Given the description of an element on the screen output the (x, y) to click on. 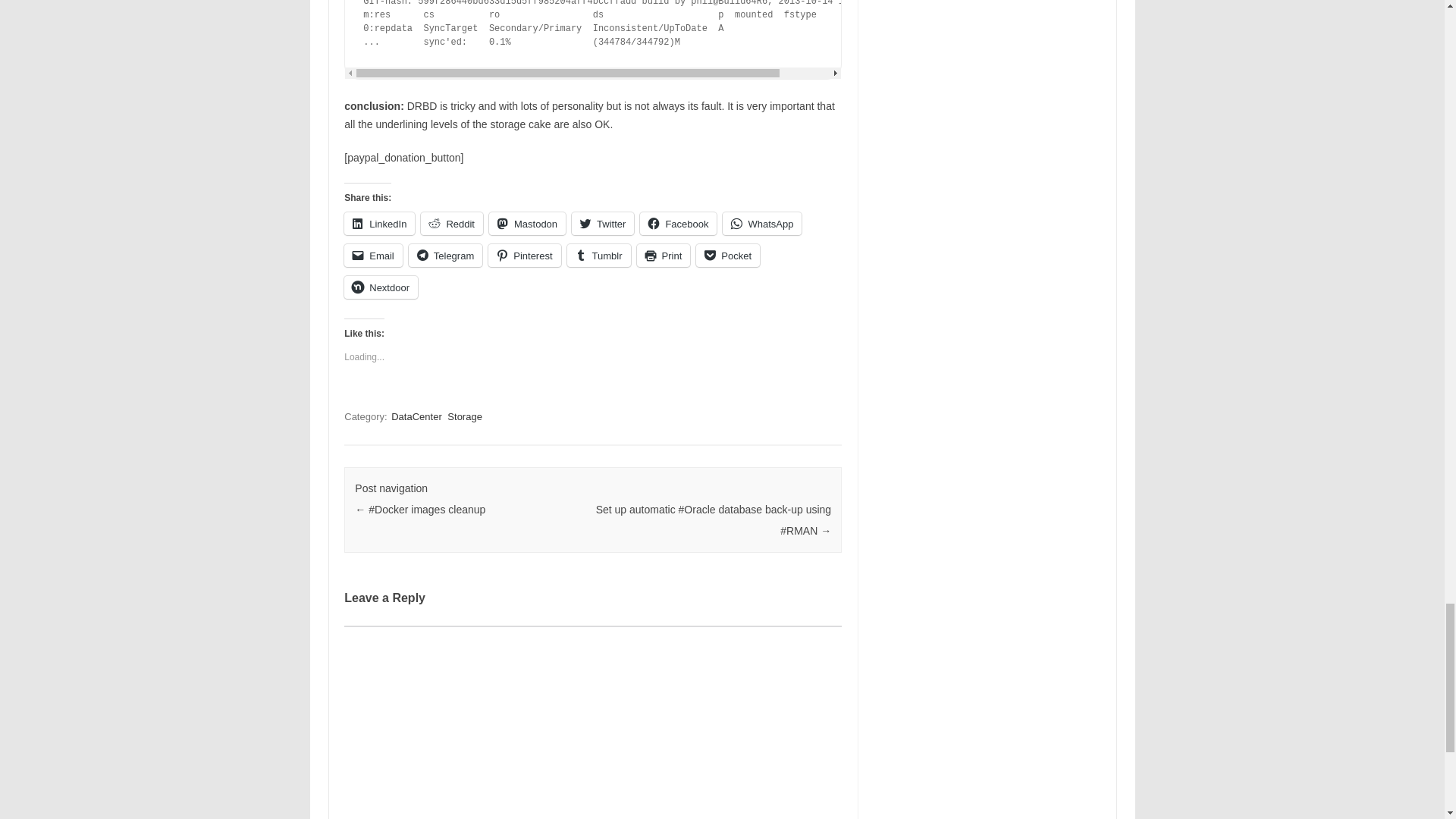
Nextdoor (380, 287)
LinkedIn (378, 223)
Click to share on Reddit (451, 223)
Pinterest (523, 255)
DataCenter (416, 416)
Pocket (727, 255)
Twitter (602, 223)
Click to share on Pinterest (523, 255)
Click to email a link to a friend (373, 255)
Click to share on Mastodon (527, 223)
